Given the description of an element on the screen output the (x, y) to click on. 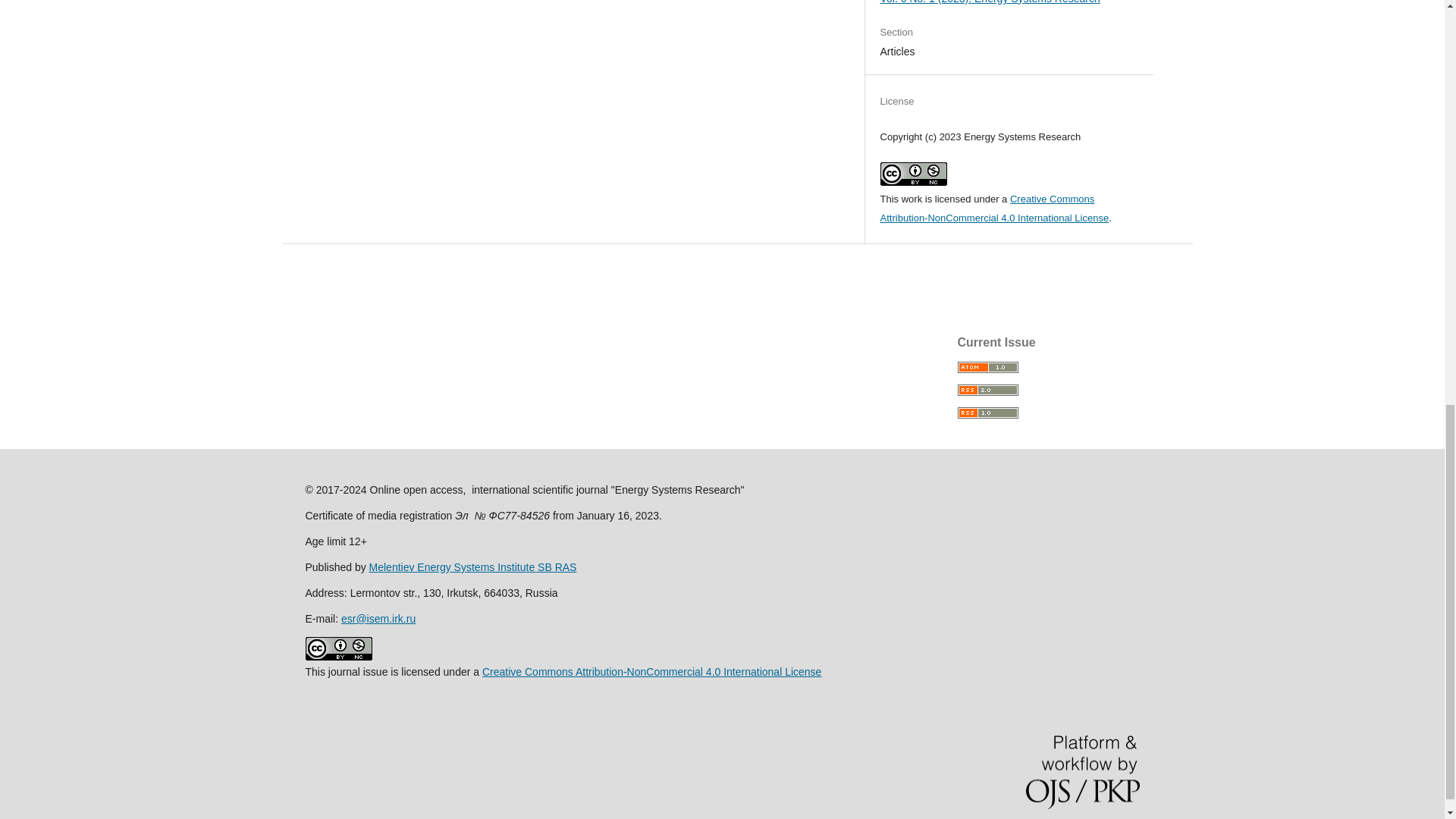
Melentiev Energy Systems Institute SB RAS (472, 567)
Melentiev Energy Systems Institute SB RAS (472, 567)
